Given the description of an element on the screen output the (x, y) to click on. 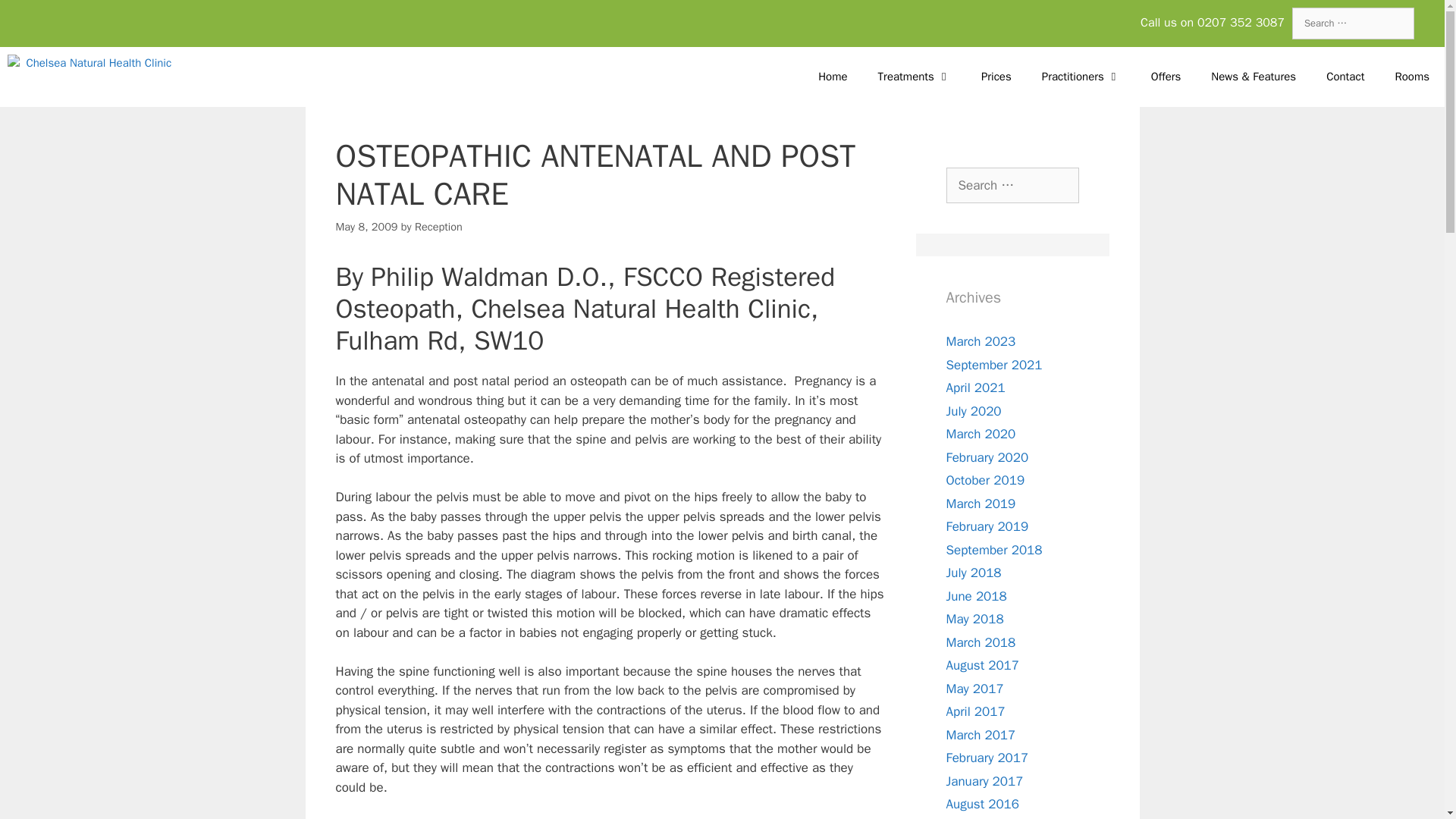
Call us on 0207 352 3087 (1212, 22)
Search for: (1352, 23)
Home (832, 76)
Search (30, 15)
